Given the description of an element on the screen output the (x, y) to click on. 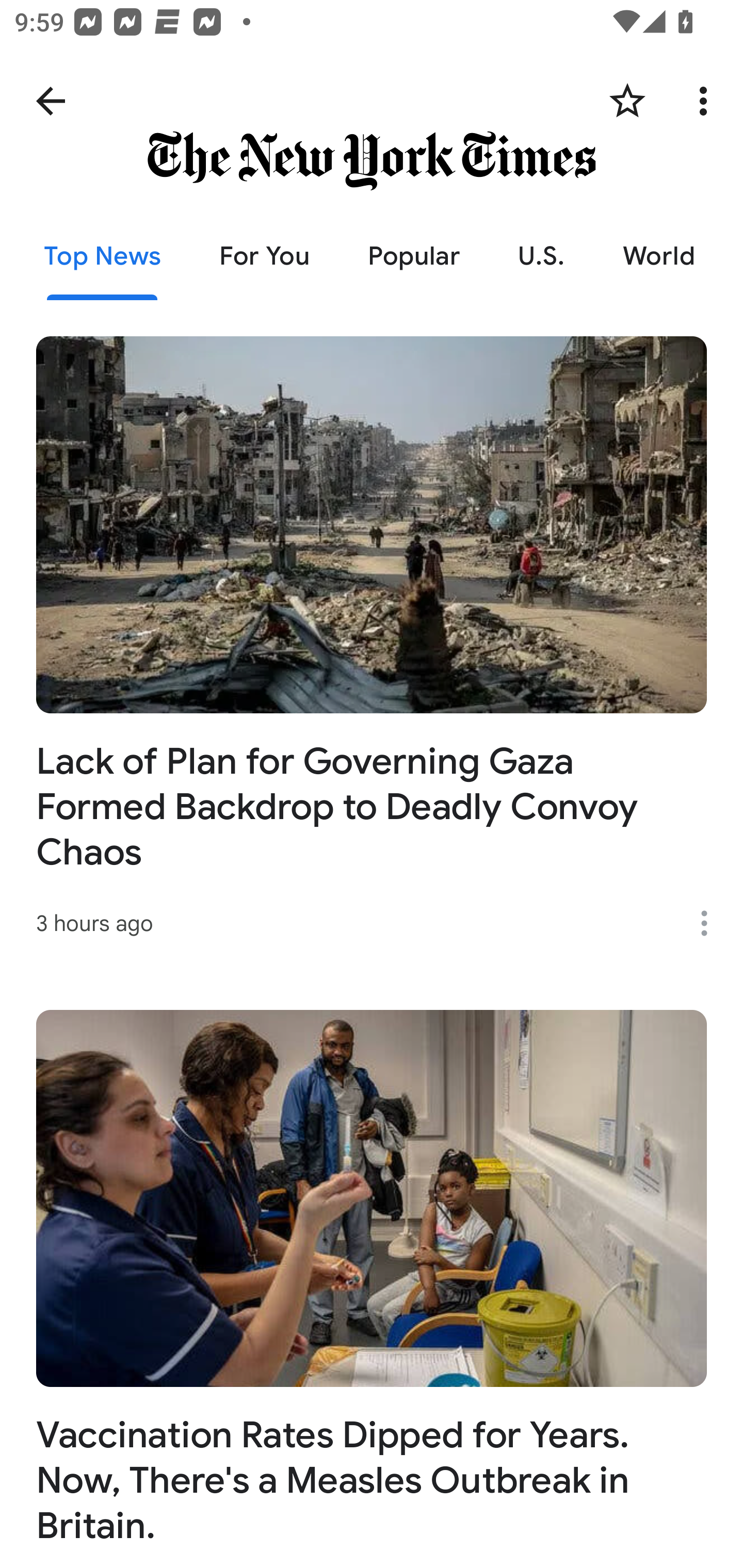
Navigate up (50, 101)
Follow (626, 101)
More options (706, 101)
For You (264, 256)
Popular (413, 256)
U.S. (540, 256)
World (658, 256)
More options (711, 923)
